Given the description of an element on the screen output the (x, y) to click on. 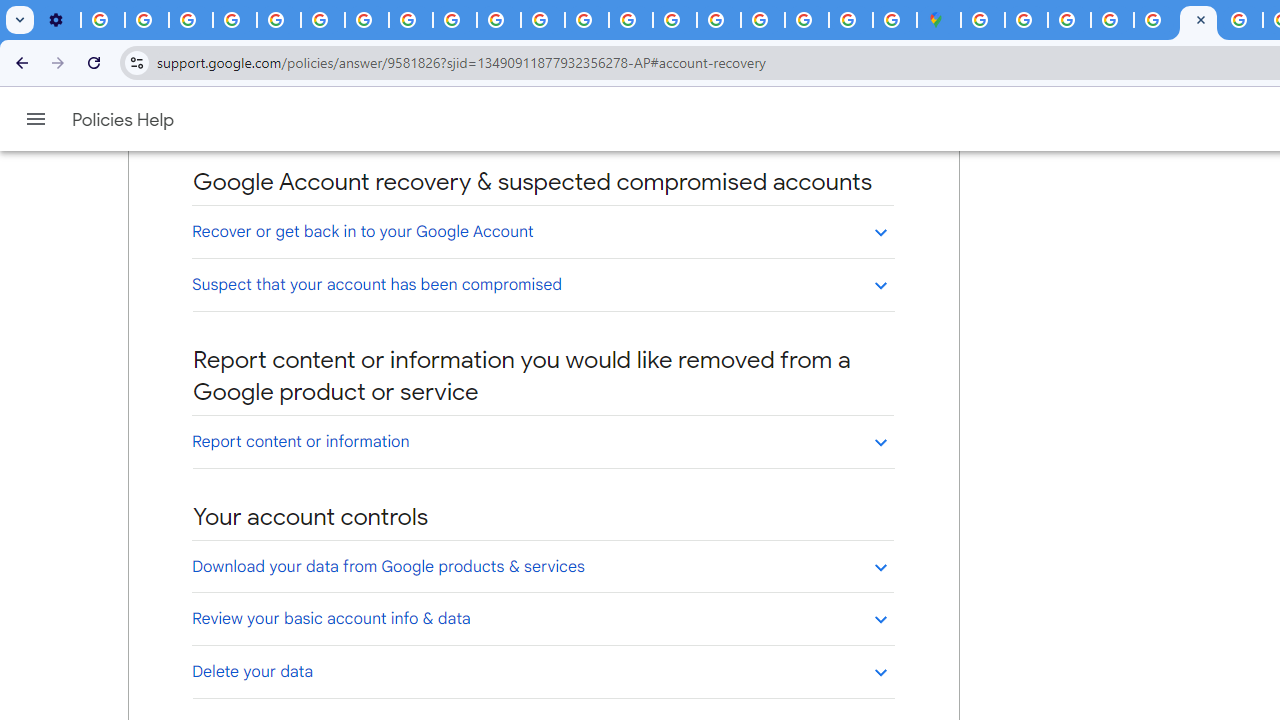
Suspect that your account has been compromised (542, 284)
YouTube (322, 20)
Privacy Help Center - Policies Help (586, 20)
Sign in - Google Accounts (1026, 20)
Report content or information (542, 441)
Privacy Help Center - Policies Help (1241, 20)
